Given the description of an element on the screen output the (x, y) to click on. 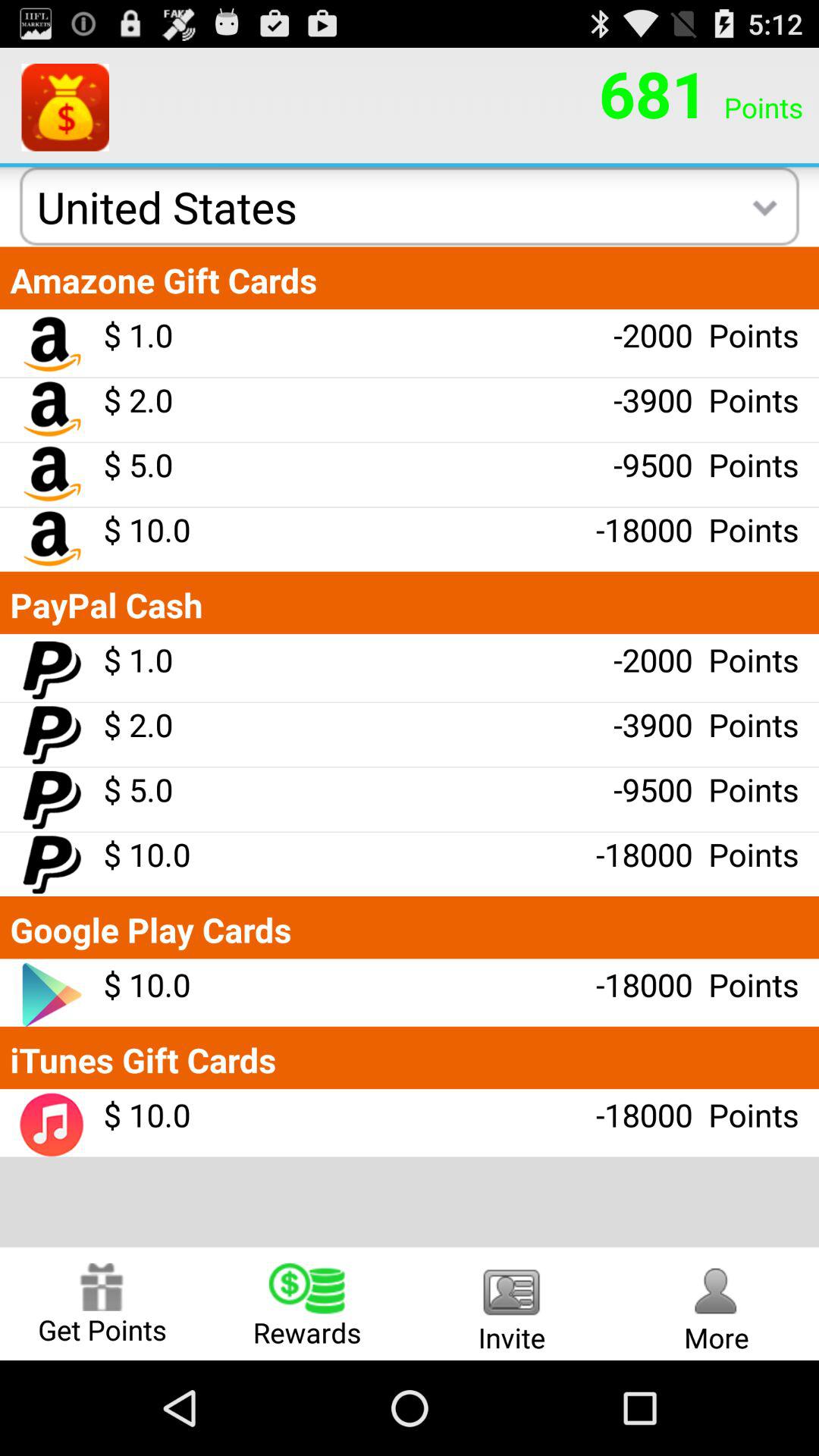
swipe to the rewards icon (306, 1303)
